Given the description of an element on the screen output the (x, y) to click on. 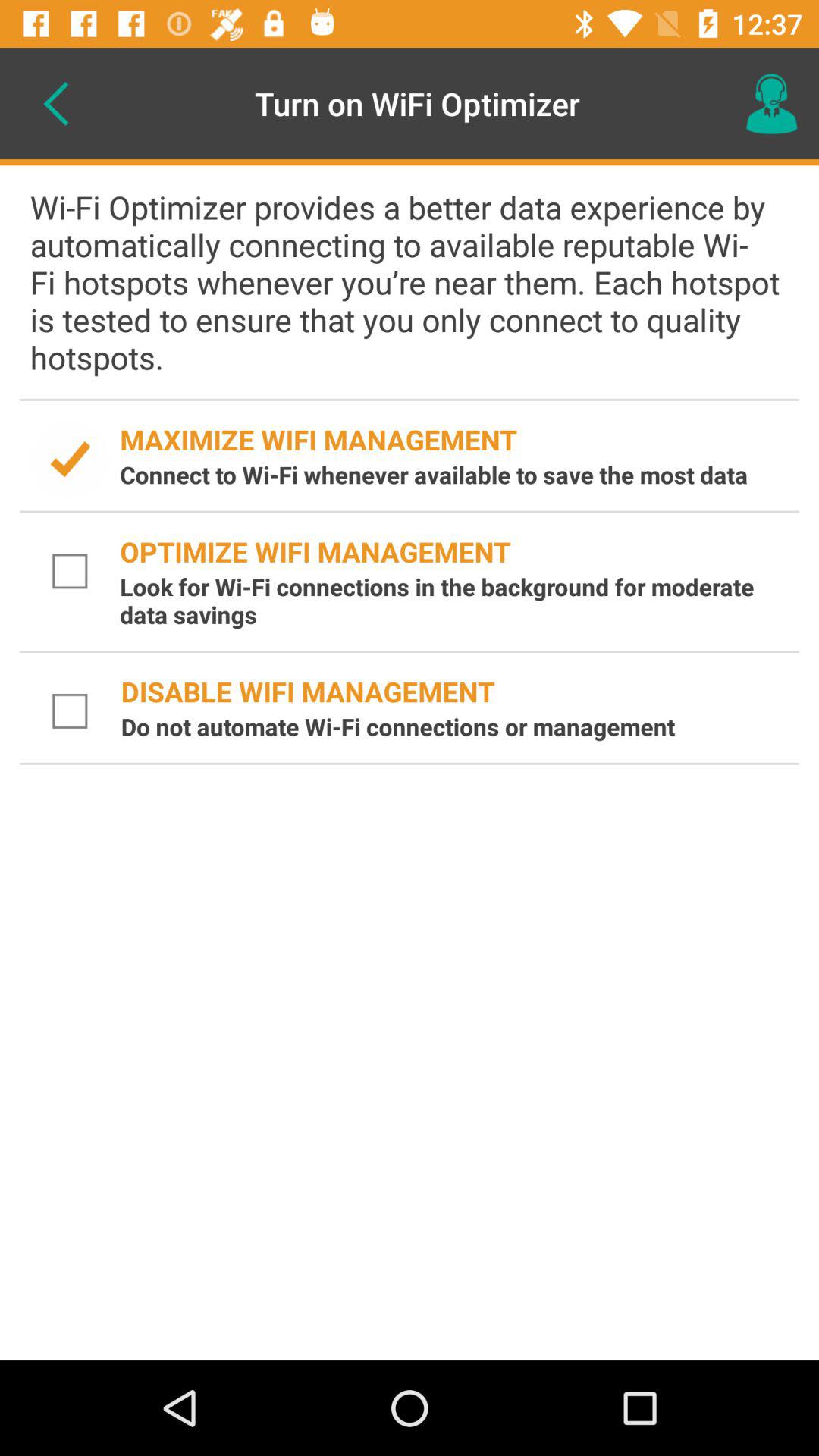
select icon to the right of the turn on wifi (771, 103)
